Given the description of an element on the screen output the (x, y) to click on. 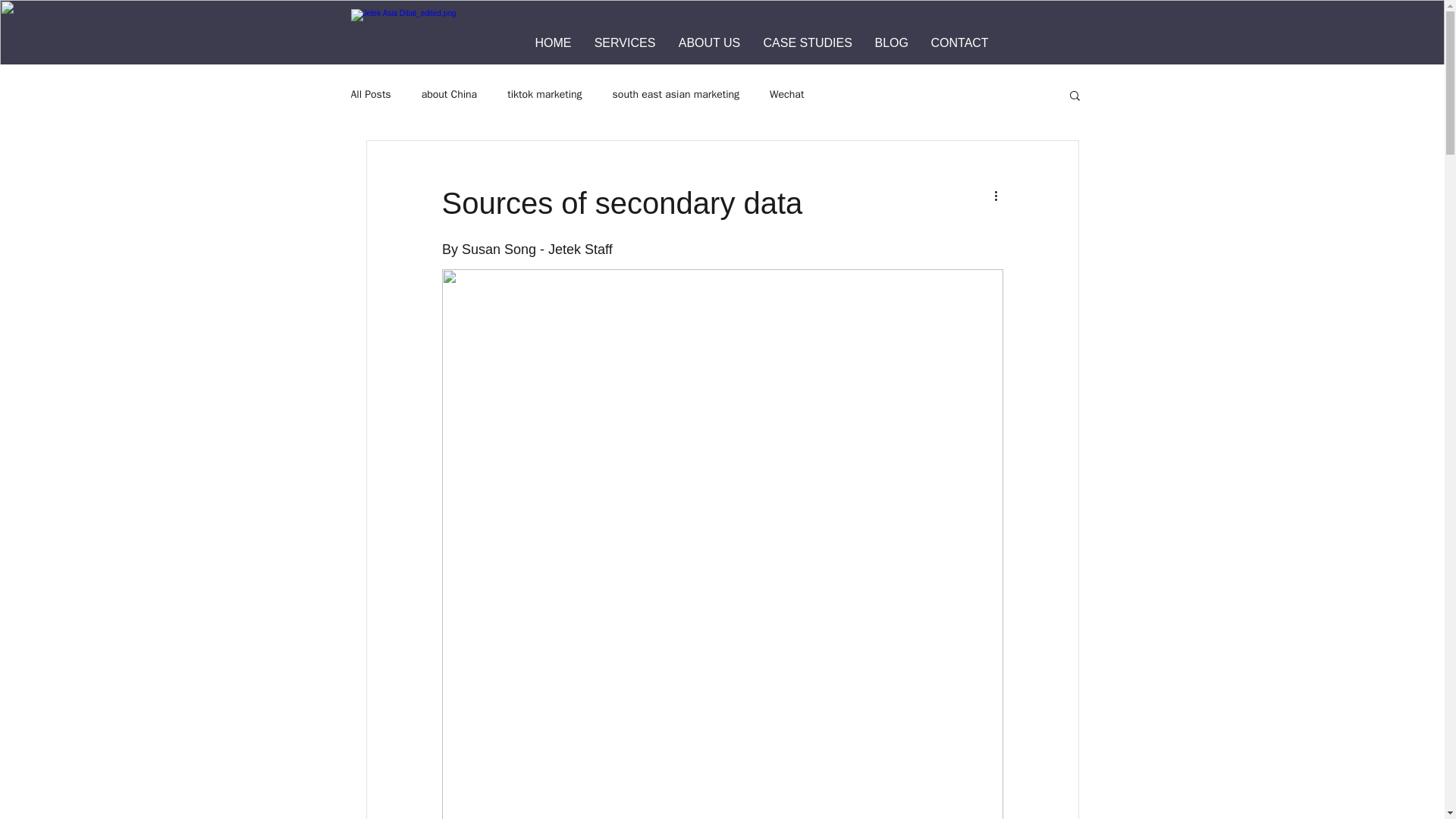
Wechat (786, 94)
BLOG (890, 42)
All Posts (370, 94)
CASE STUDIES (807, 42)
about China (449, 94)
tiktok marketing (543, 94)
HOME (552, 42)
CONTACT (958, 42)
ABOUT US (709, 42)
SERVICES (624, 42)
south east asian marketing (675, 94)
